Given the description of an element on the screen output the (x, y) to click on. 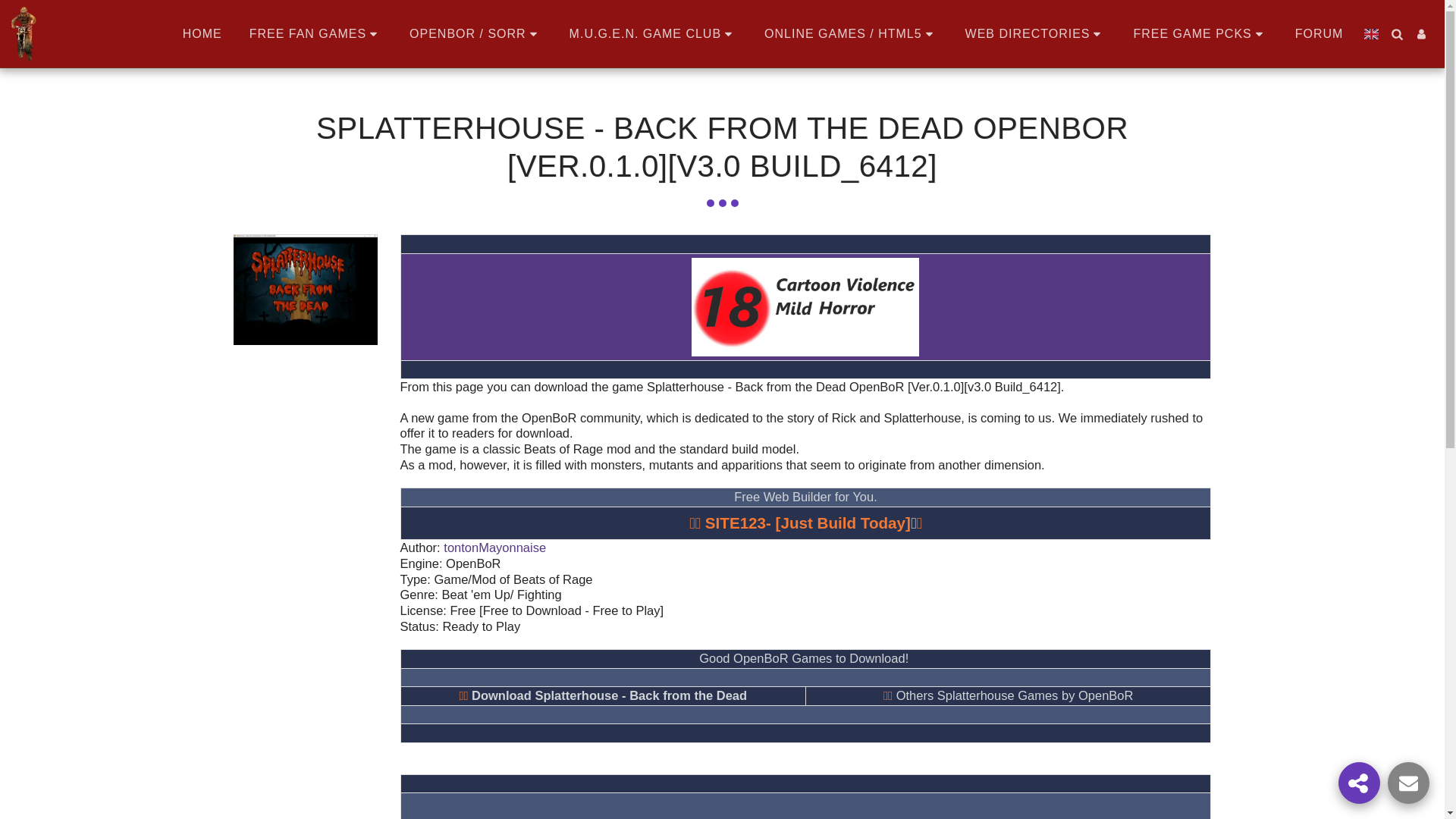
FREE GAME PCKS   (1199, 33)
M.U.G.E.N. GAME CLUB   (652, 33)
FREE FAN GAMES   (315, 33)
HOME (201, 33)
WEB DIRECTORIES   (1035, 33)
FORUM (1319, 33)
